Given the description of an element on the screen output the (x, y) to click on. 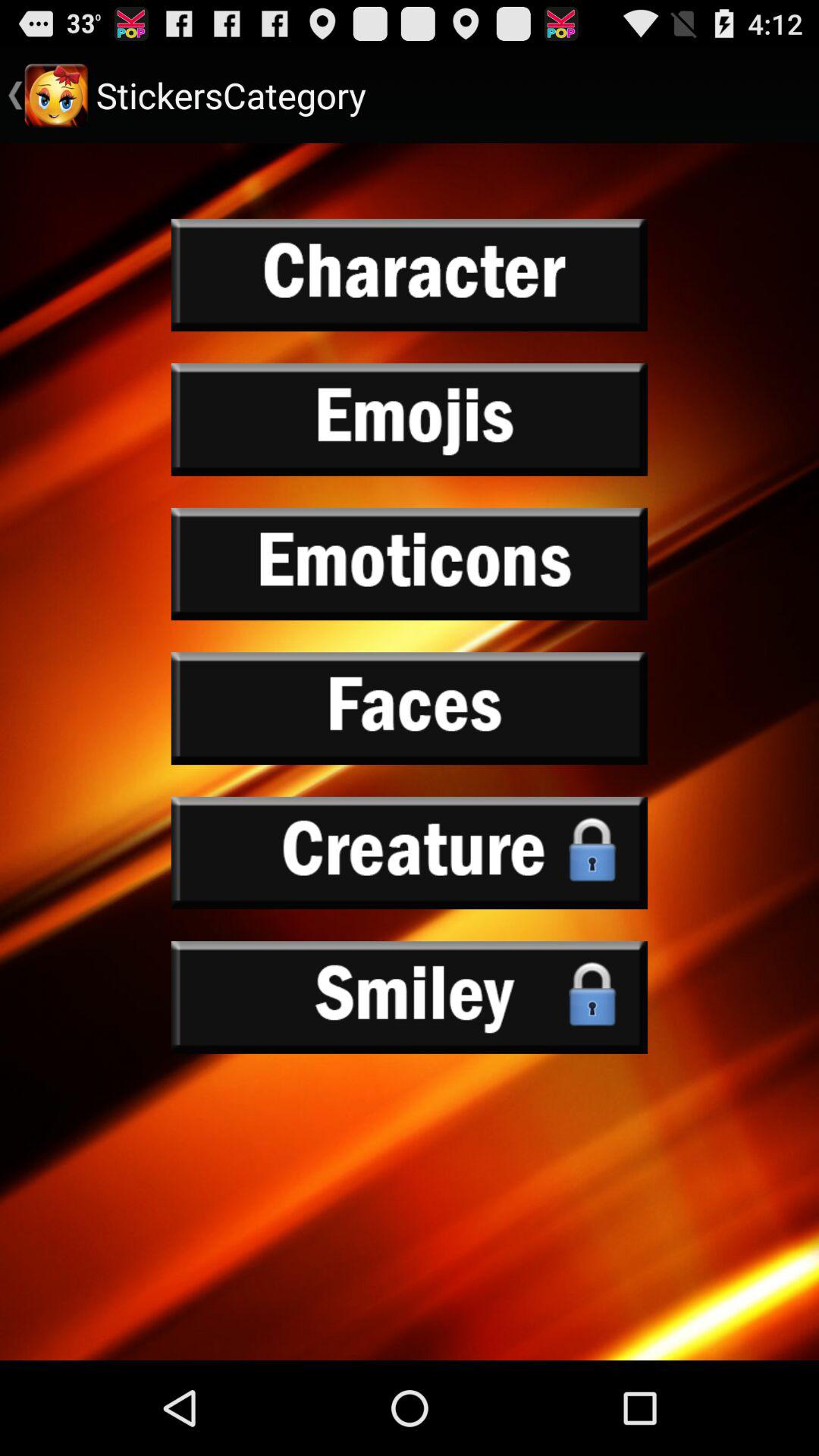
selecter character (409, 275)
